Given the description of an element on the screen output the (x, y) to click on. 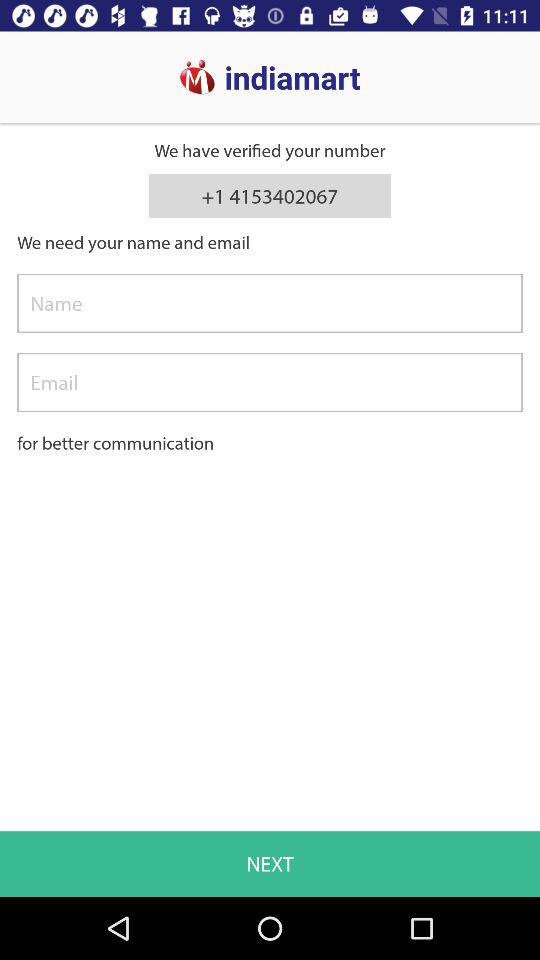
enter your name (269, 303)
